Given the description of an element on the screen output the (x, y) to click on. 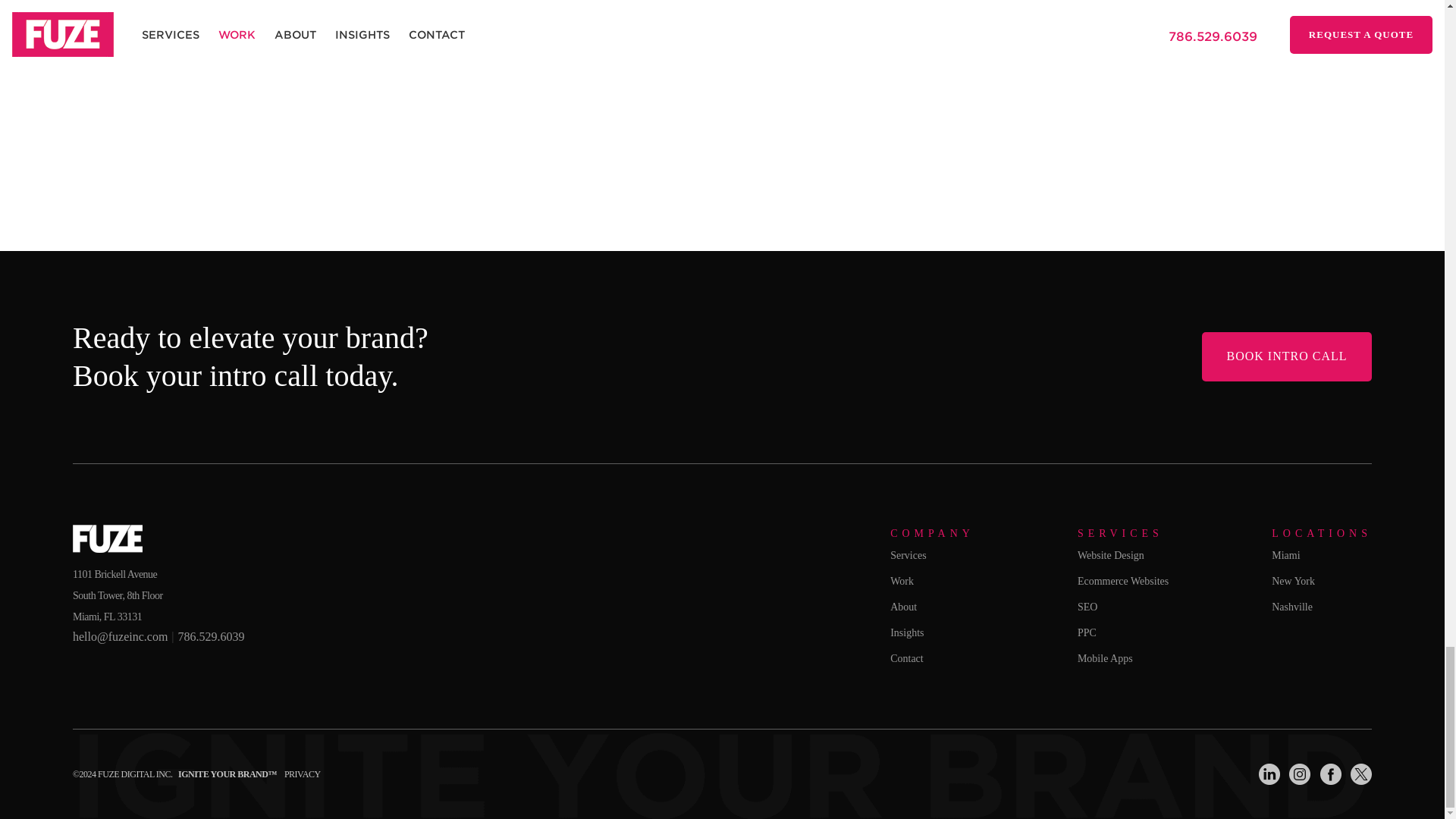
BOOK INTRO CALL (1286, 371)
Miami (1285, 555)
Website Design (1110, 555)
PPC (1086, 632)
Contact (906, 658)
Insights (906, 632)
BOOK INTRO CALL (1286, 356)
About (903, 606)
Work (901, 581)
SEO (1087, 606)
Ecommerce Websites (1123, 581)
Mobile Apps (1104, 658)
Services (907, 555)
786.529.6039 (210, 635)
